Given the description of an element on the screen output the (x, y) to click on. 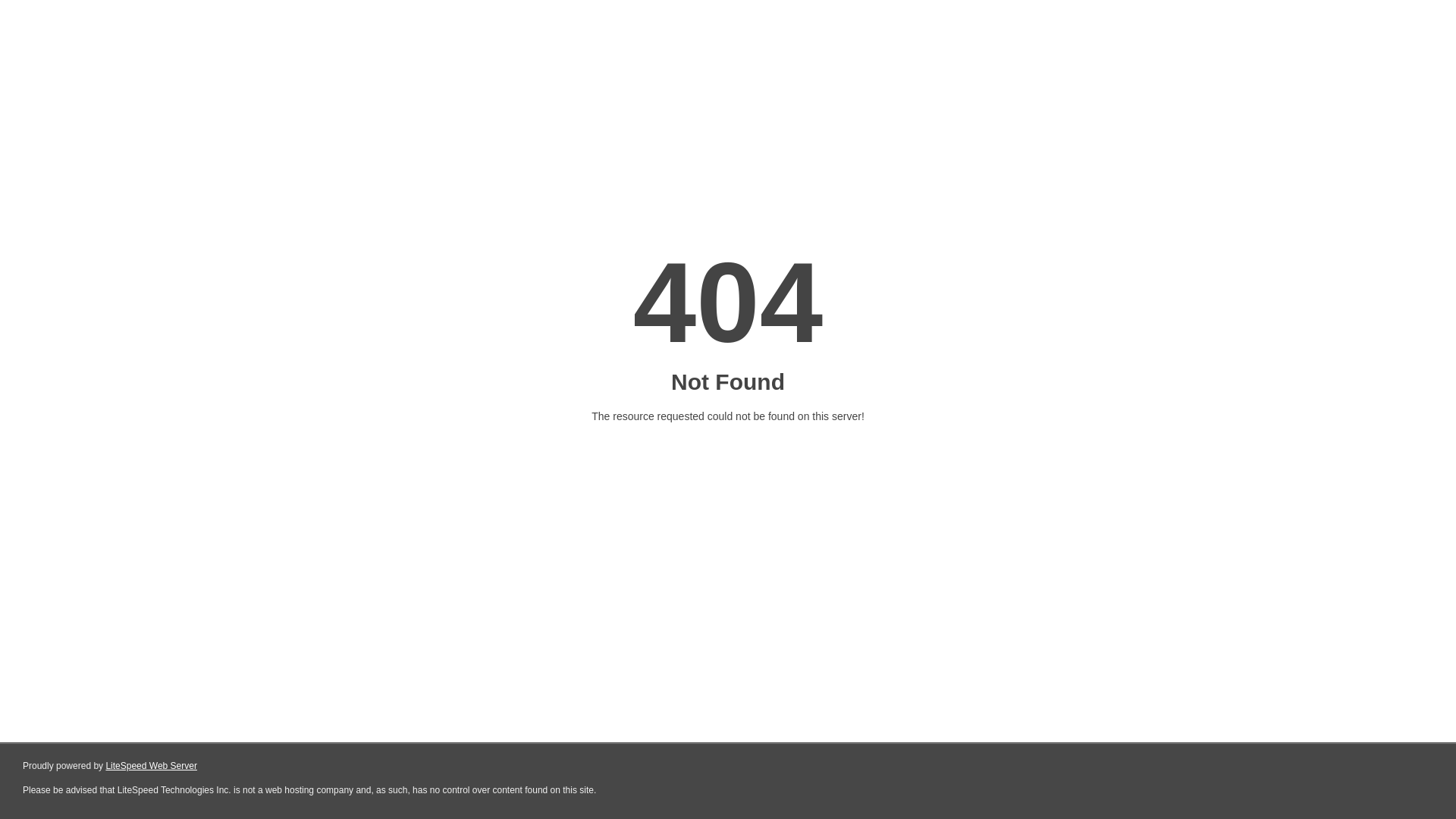
LiteSpeed Web Server Element type: text (151, 765)
